Given the description of an element on the screen output the (x, y) to click on. 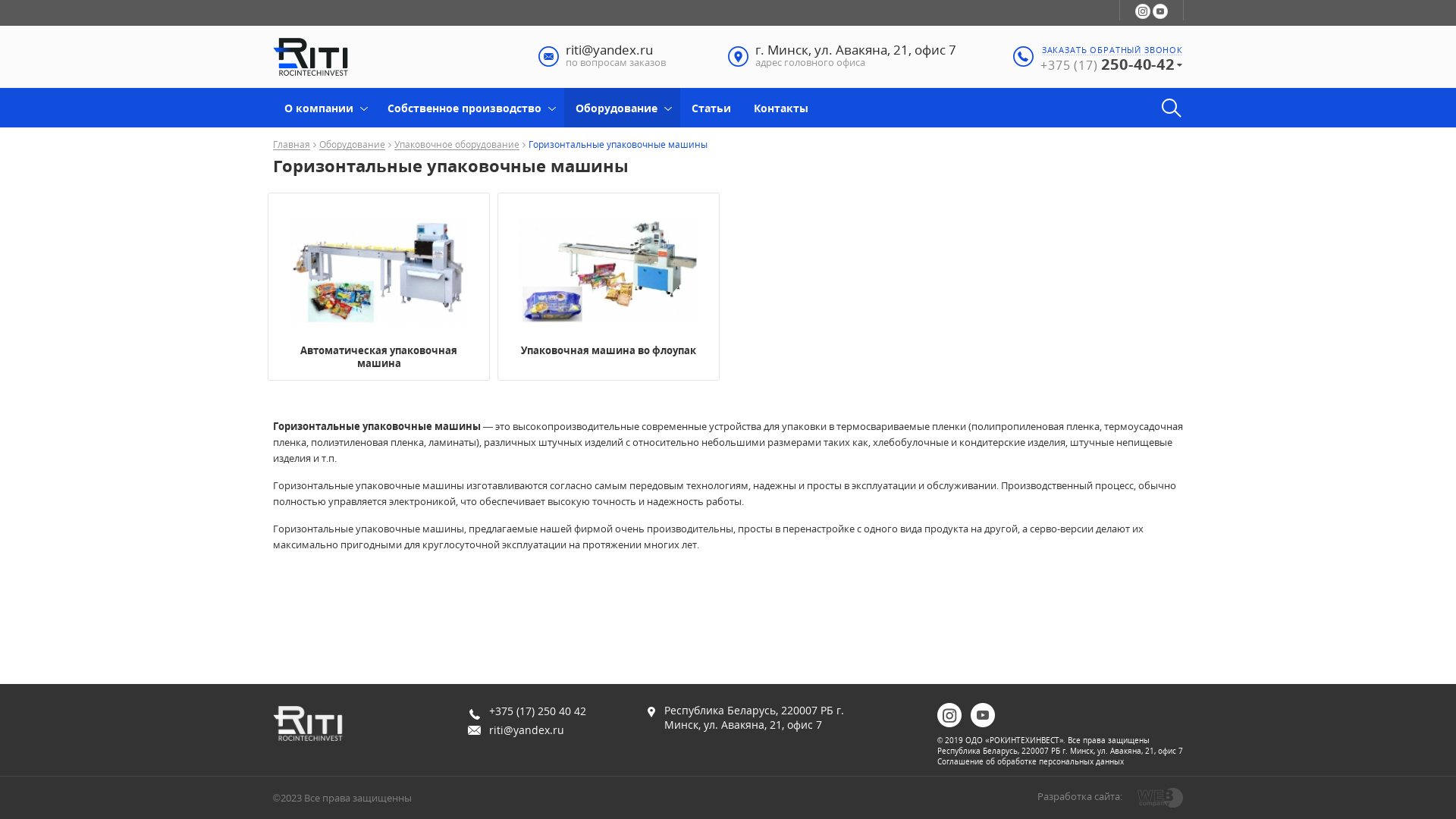
+375 (17) 250 40 42 Element type: text (537, 710)
riti@yandex.ru Element type: text (526, 729)
+375 (17) 250-40-42 Element type: text (1111, 64)
